Given the description of an element on the screen output the (x, y) to click on. 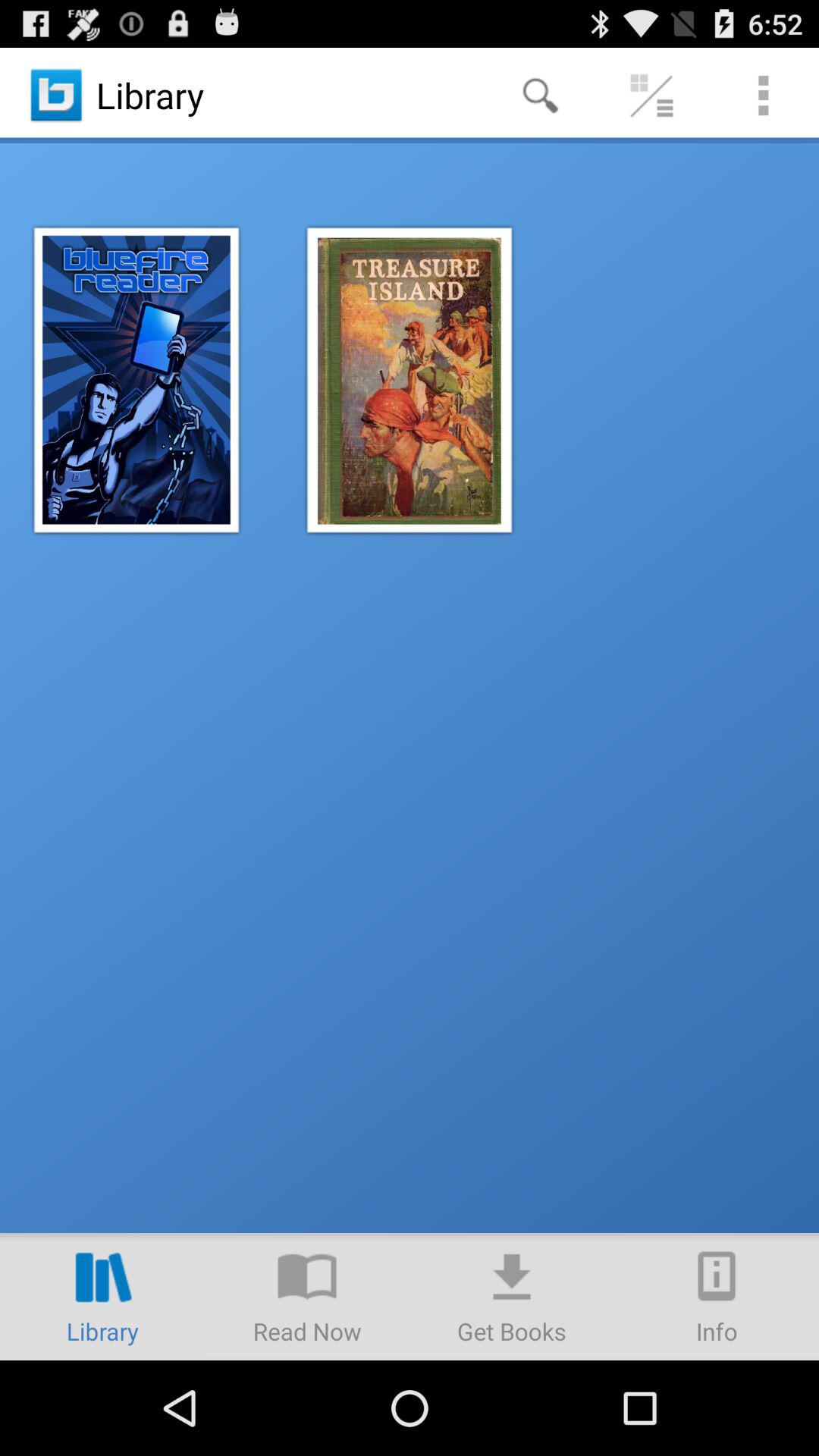
more information (716, 1296)
